Given the description of an element on the screen output the (x, y) to click on. 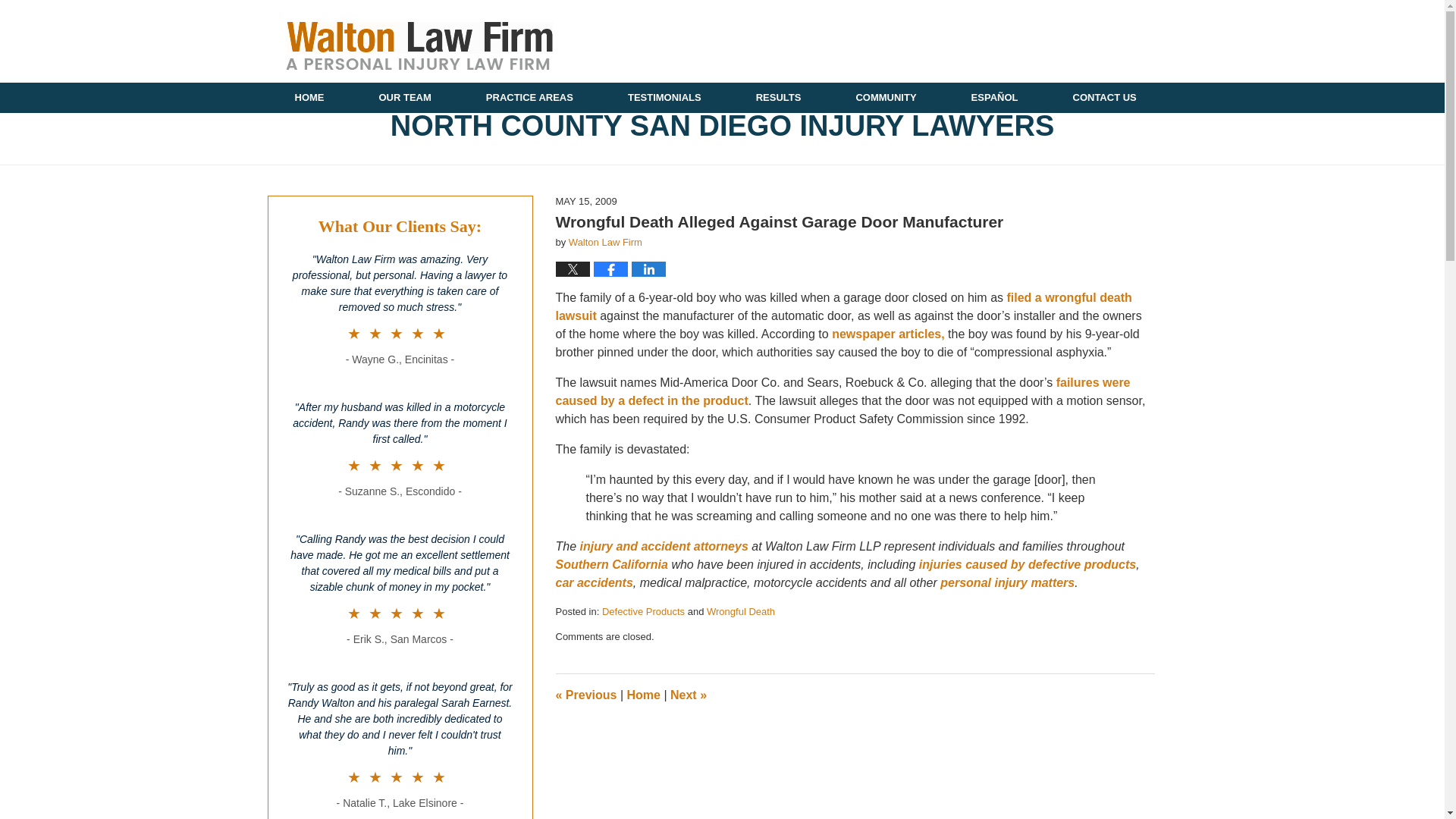
Wrongful Death (740, 611)
CONTACT US (1104, 97)
Walton Law Firm (605, 242)
Home (642, 694)
Southern California (612, 563)
Proposed California Law to Address Tire Dangers (687, 694)
NORTH COUNTY SAN DIEGO INJURY LAWYERS (721, 126)
Defective Products (643, 611)
RESULTS (778, 97)
PRACTICE AREAS (528, 97)
